Given the description of an element on the screen output the (x, y) to click on. 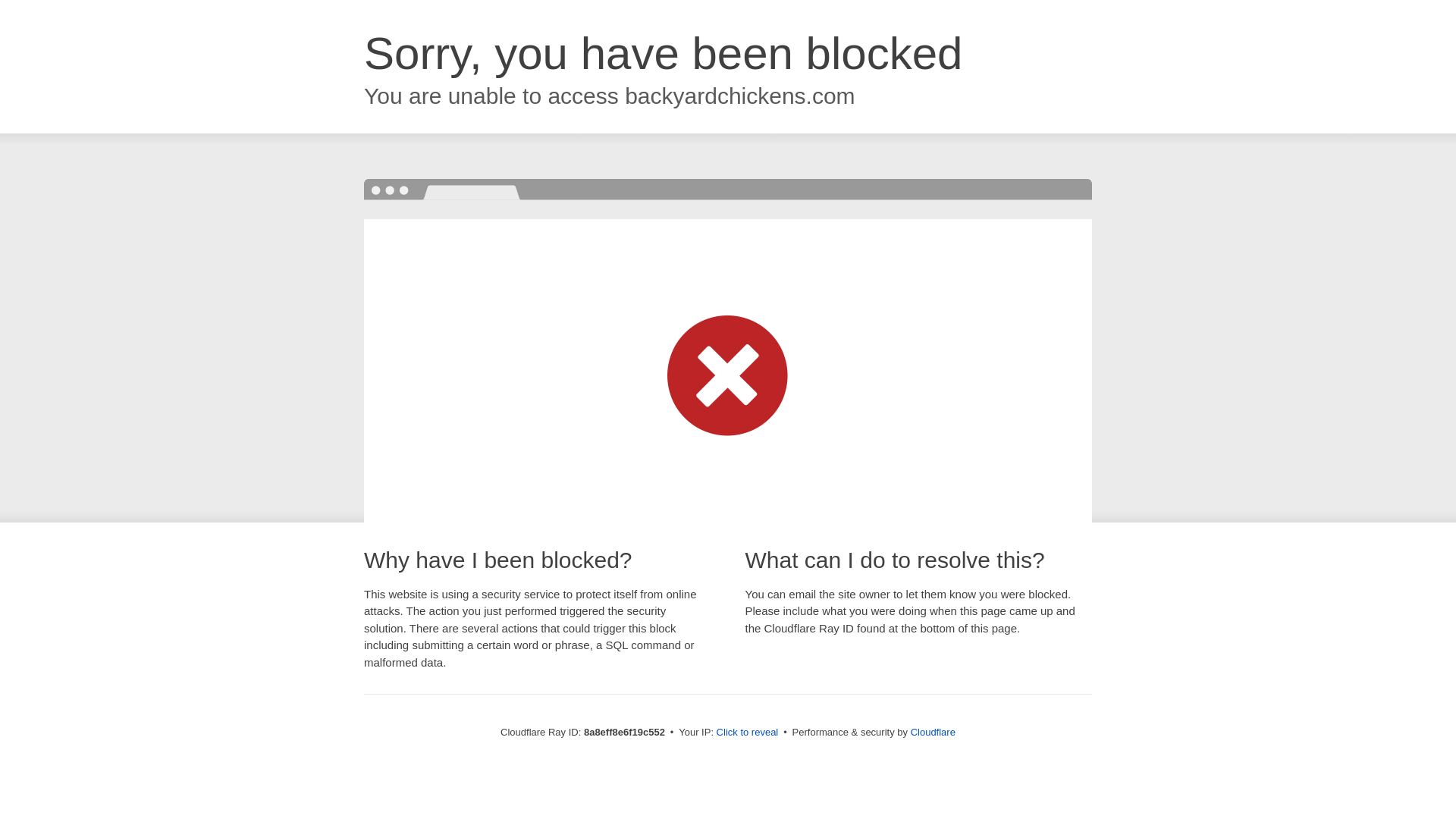
Cloudflare (933, 731)
Click to reveal (747, 732)
